Given the description of an element on the screen output the (x, y) to click on. 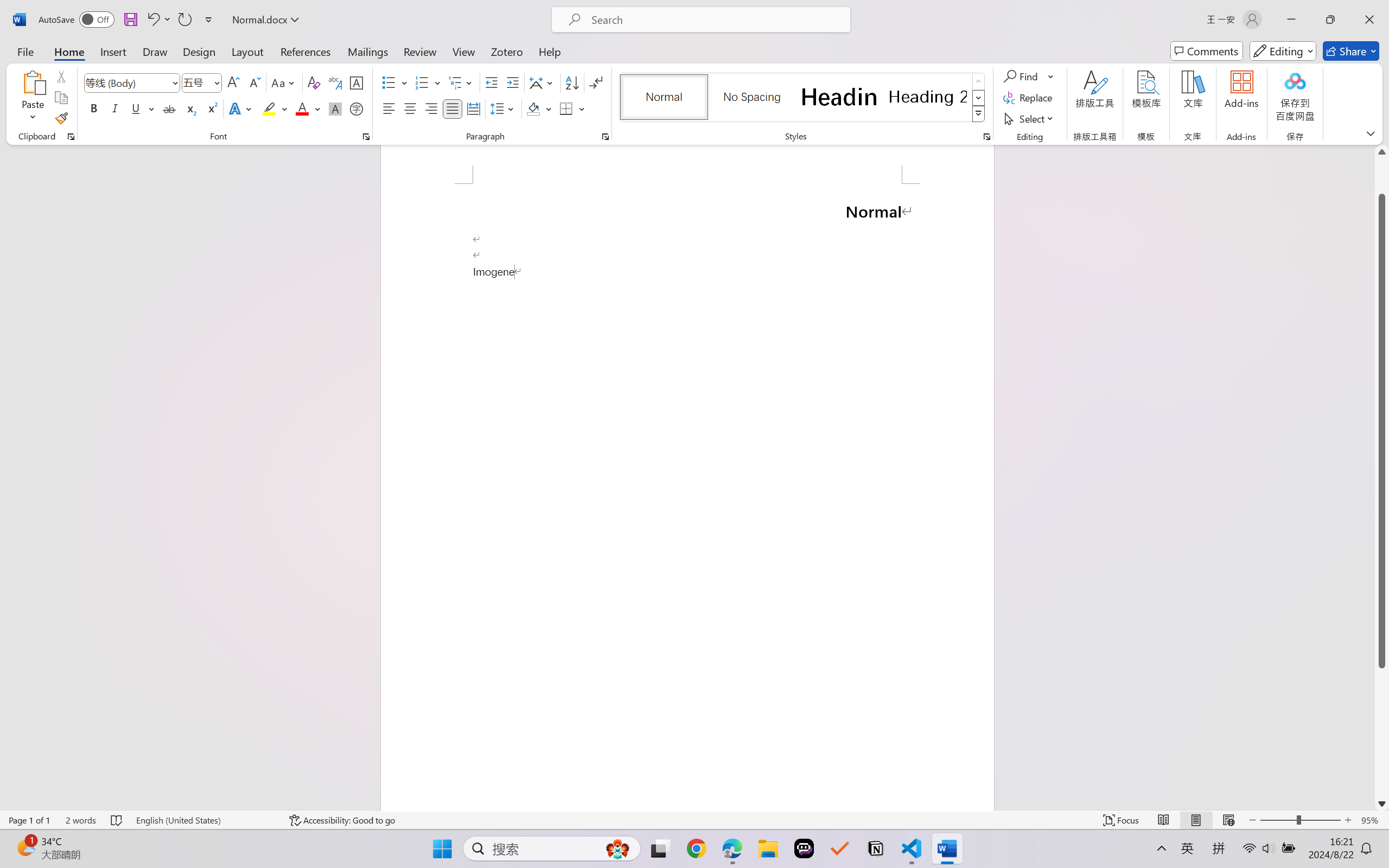
Repeat Style (184, 19)
Microsoft search (715, 19)
Character Border (356, 82)
Replace... (1029, 97)
Zoom 95% (1372, 819)
